Given the description of an element on the screen output the (x, y) to click on. 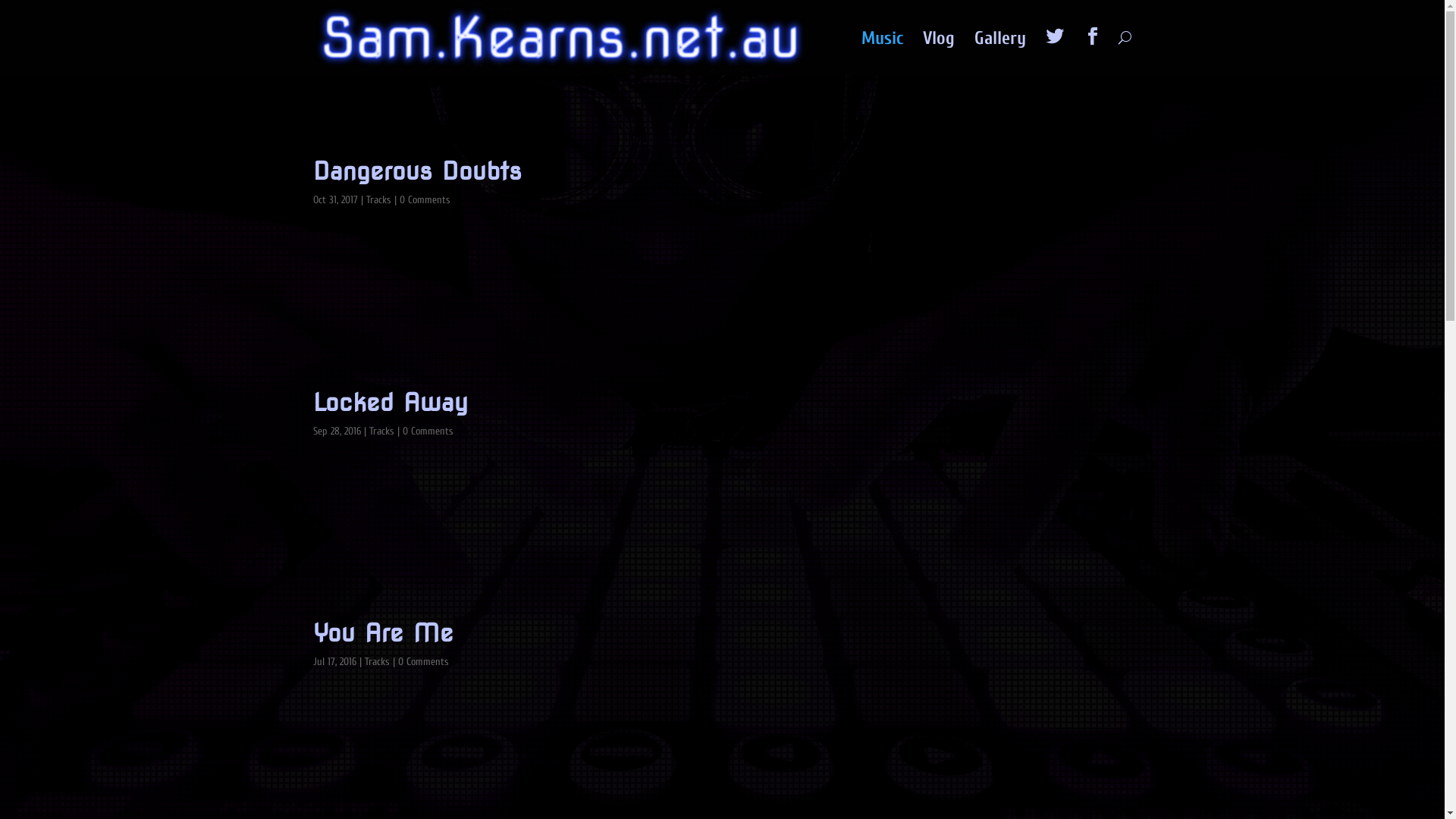
Tracks Element type: text (376, 661)
Gallery Element type: text (999, 54)
Tracks Element type: text (380, 430)
Locked Away Element type: text (389, 402)
Dangerous Doubts Element type: text (416, 170)
Tracks Element type: text (377, 199)
Vlog Element type: text (937, 54)
You Are Me Element type: text (382, 632)
Music Element type: text (882, 54)
